Given the description of an element on the screen output the (x, y) to click on. 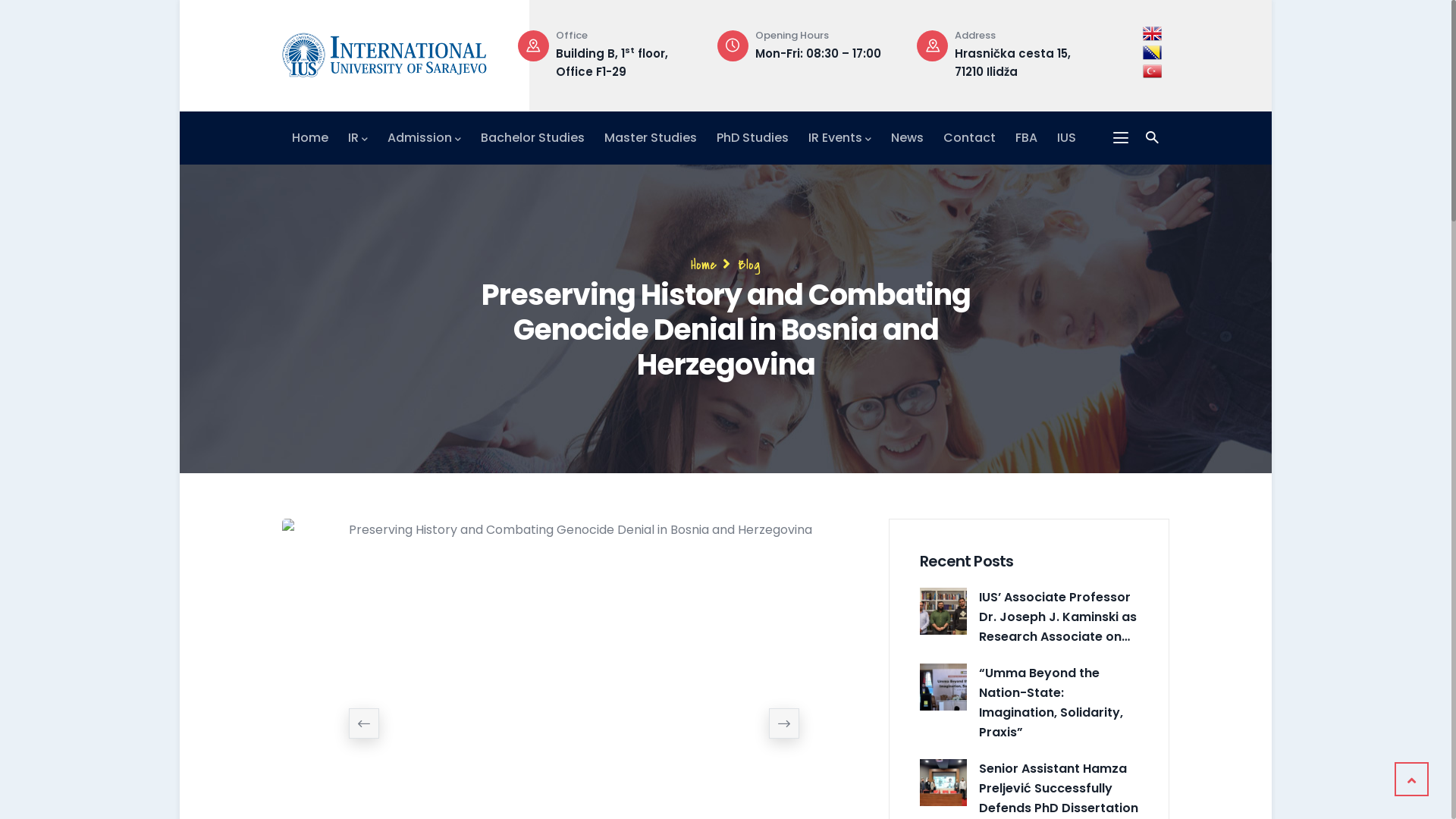
Engleski Element type: hover (1151, 33)
Turkish Element type: hover (1151, 71)
IUS Element type: text (1066, 137)
Home Element type: hover (384, 51)
Contact Element type: text (969, 137)
Home Element type: text (309, 137)
PhD Studies Element type: text (752, 137)
+387 33 957 400 Element type: text (603, 53)
Home Element type: text (703, 264)
News Element type: text (907, 137)
Admission Element type: text (424, 137)
Master Studies Element type: text (650, 137)
Bachelor Studies Element type: text (532, 137)
FBA Element type: text (1026, 137)
IR Events Element type: text (839, 137)
Skip to main content Element type: text (179, 0)
IR Element type: text (357, 137)
Bosnian Element type: hover (1151, 52)
